Given the description of an element on the screen output the (x, y) to click on. 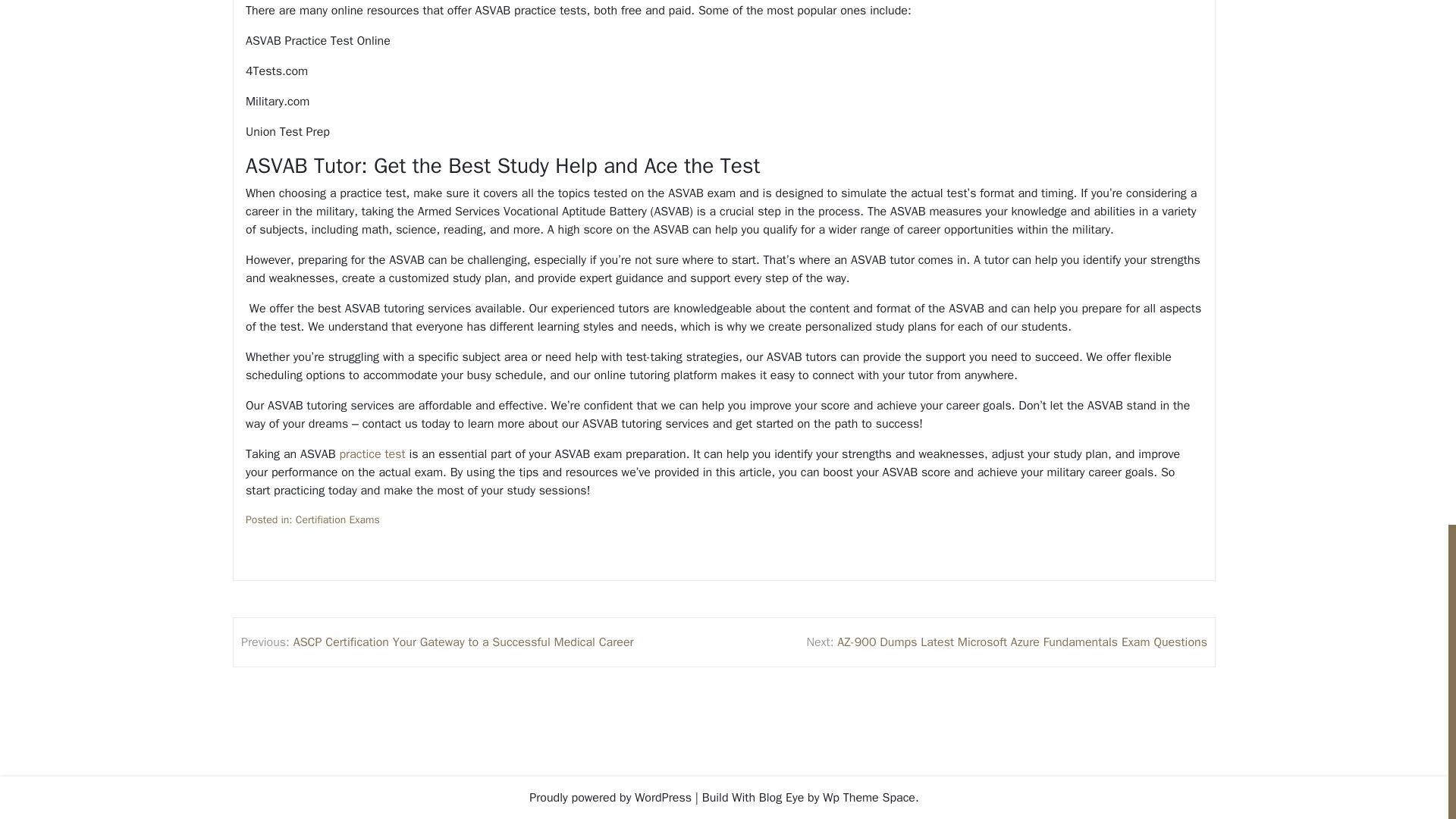
Proudly powered by WordPress (610, 797)
Certifiation Exams (337, 519)
practice test (371, 454)
Blog Eye (780, 797)
